Given the description of an element on the screen output the (x, y) to click on. 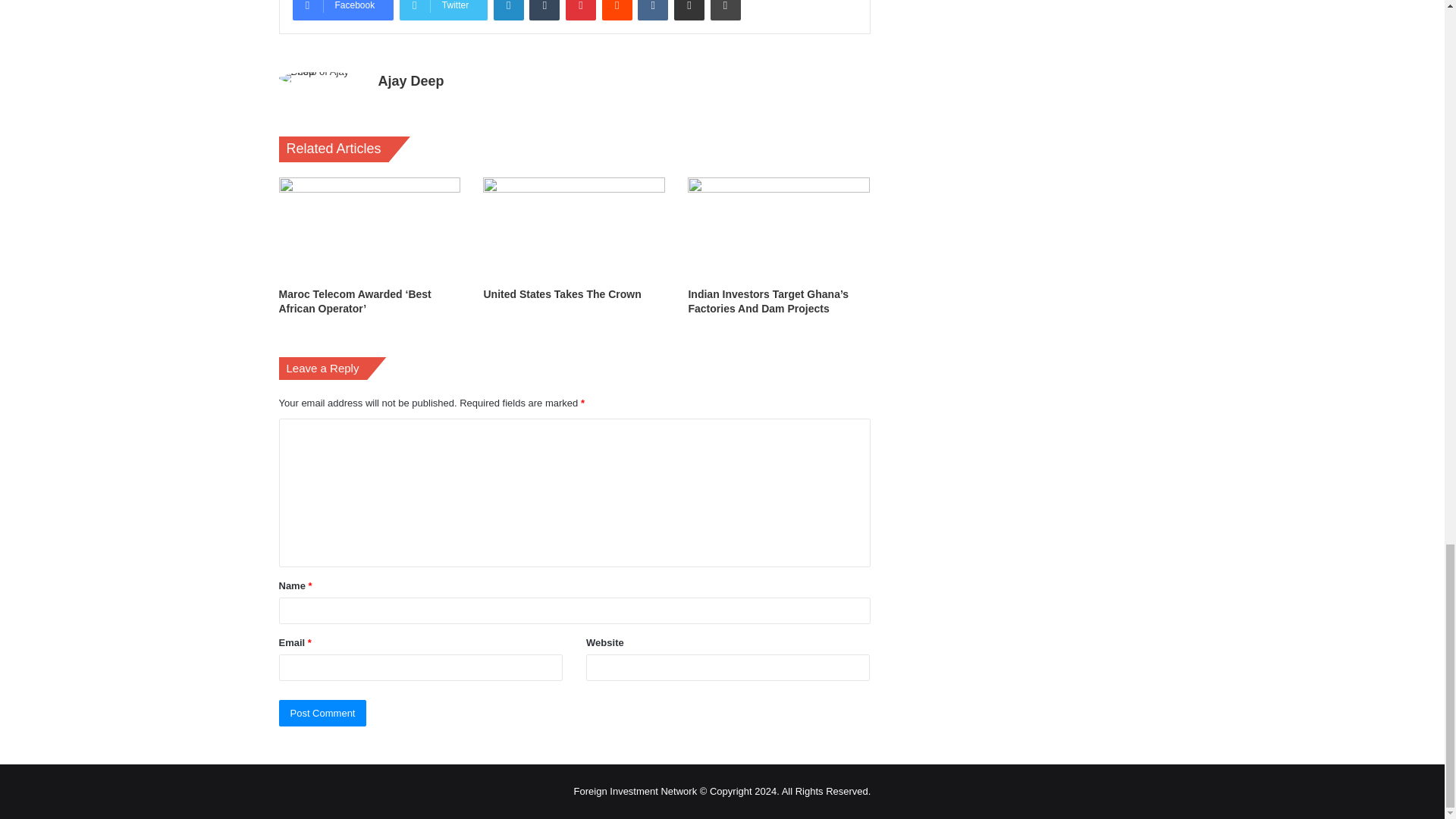
Post Comment (322, 713)
Facebook (343, 10)
Twitter (442, 10)
Pinterest (580, 10)
Facebook (343, 10)
Tumblr (544, 10)
Twitter (442, 10)
Print (725, 10)
Share via Email (689, 10)
LinkedIn (508, 10)
